Given the description of an element on the screen output the (x, y) to click on. 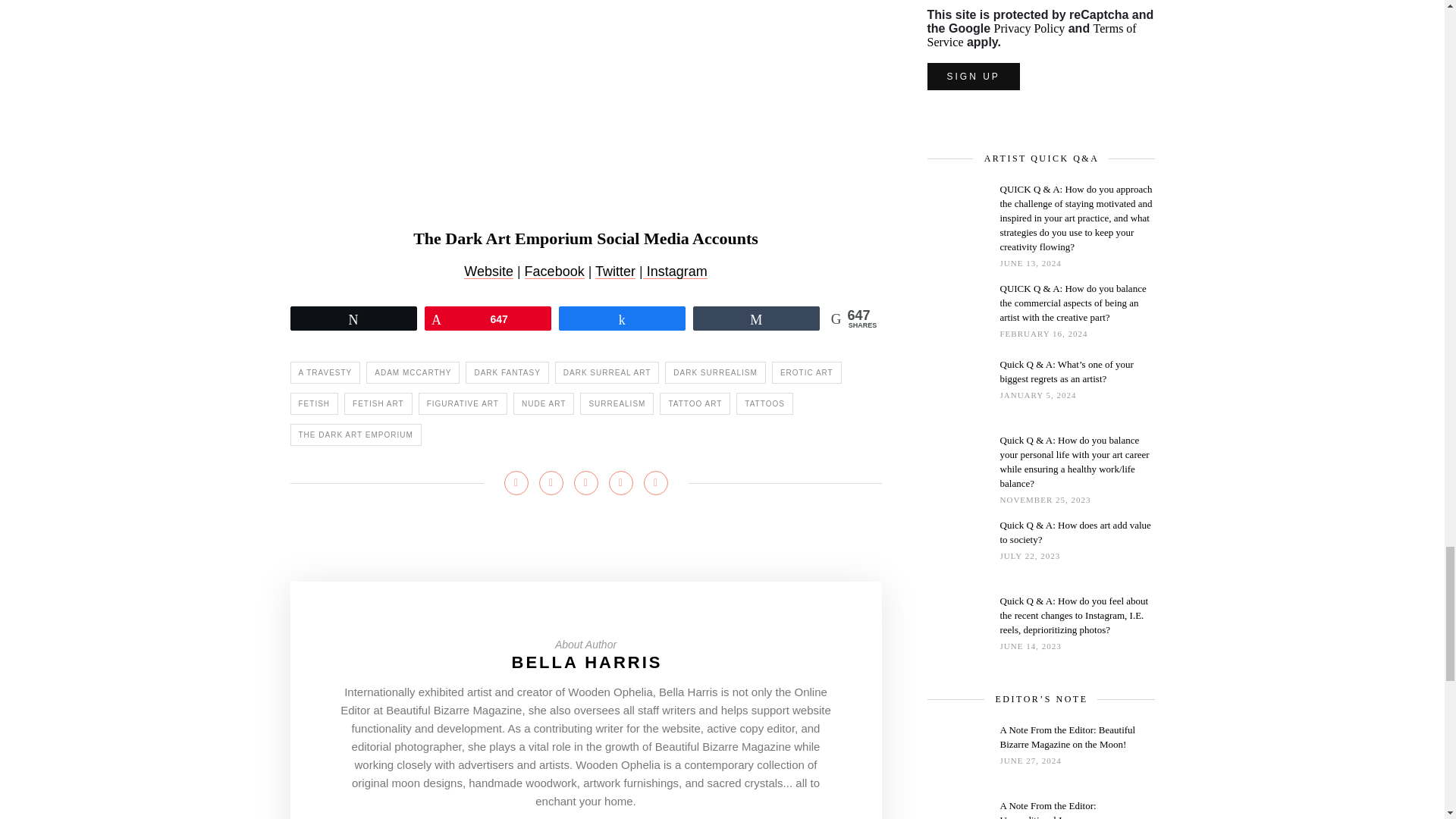
Posts by Bella Harris (587, 661)
Sign up (972, 76)
